Given the description of an element on the screen output the (x, y) to click on. 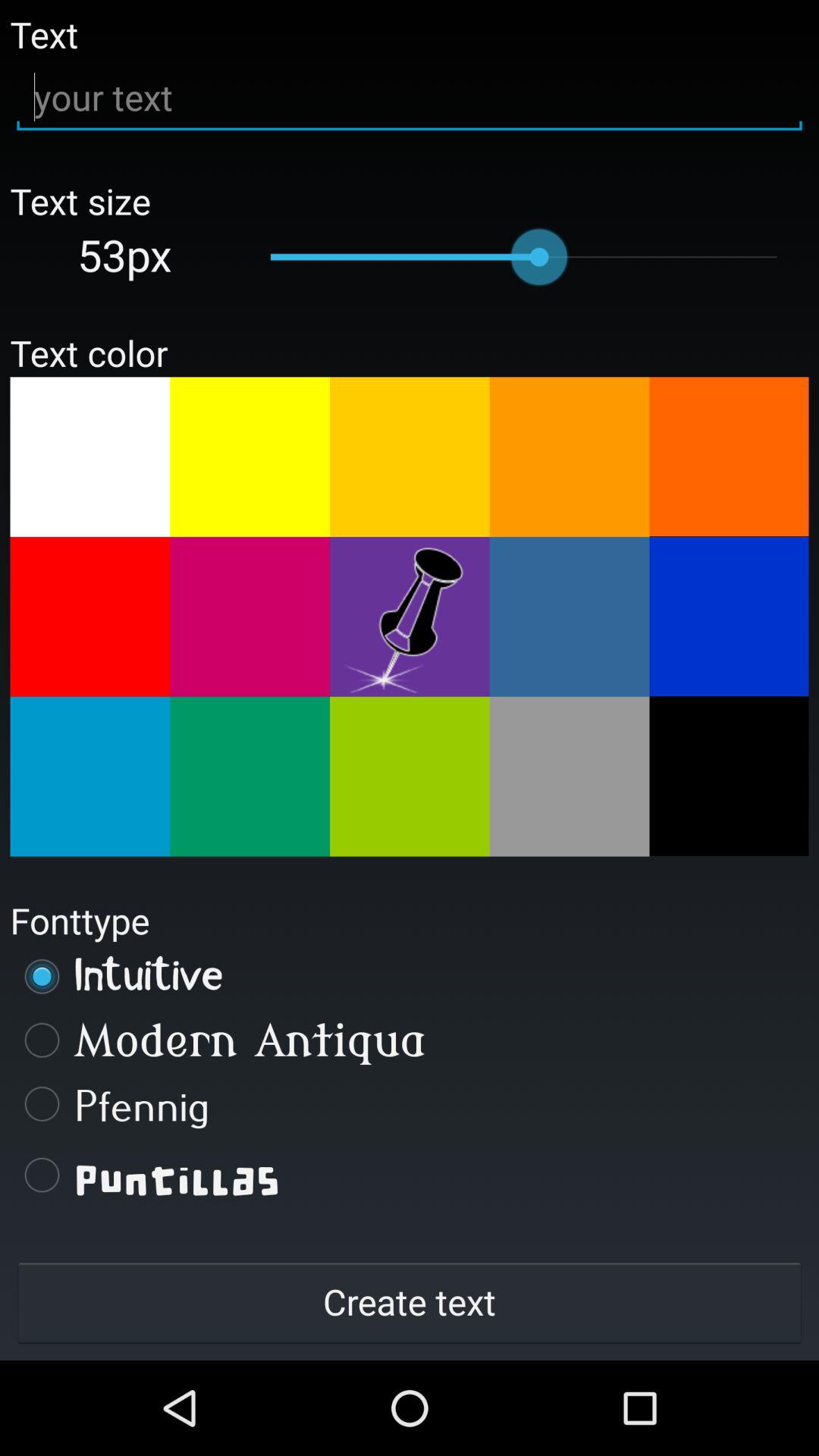
change text color blue (569, 616)
